Given the description of an element on the screen output the (x, y) to click on. 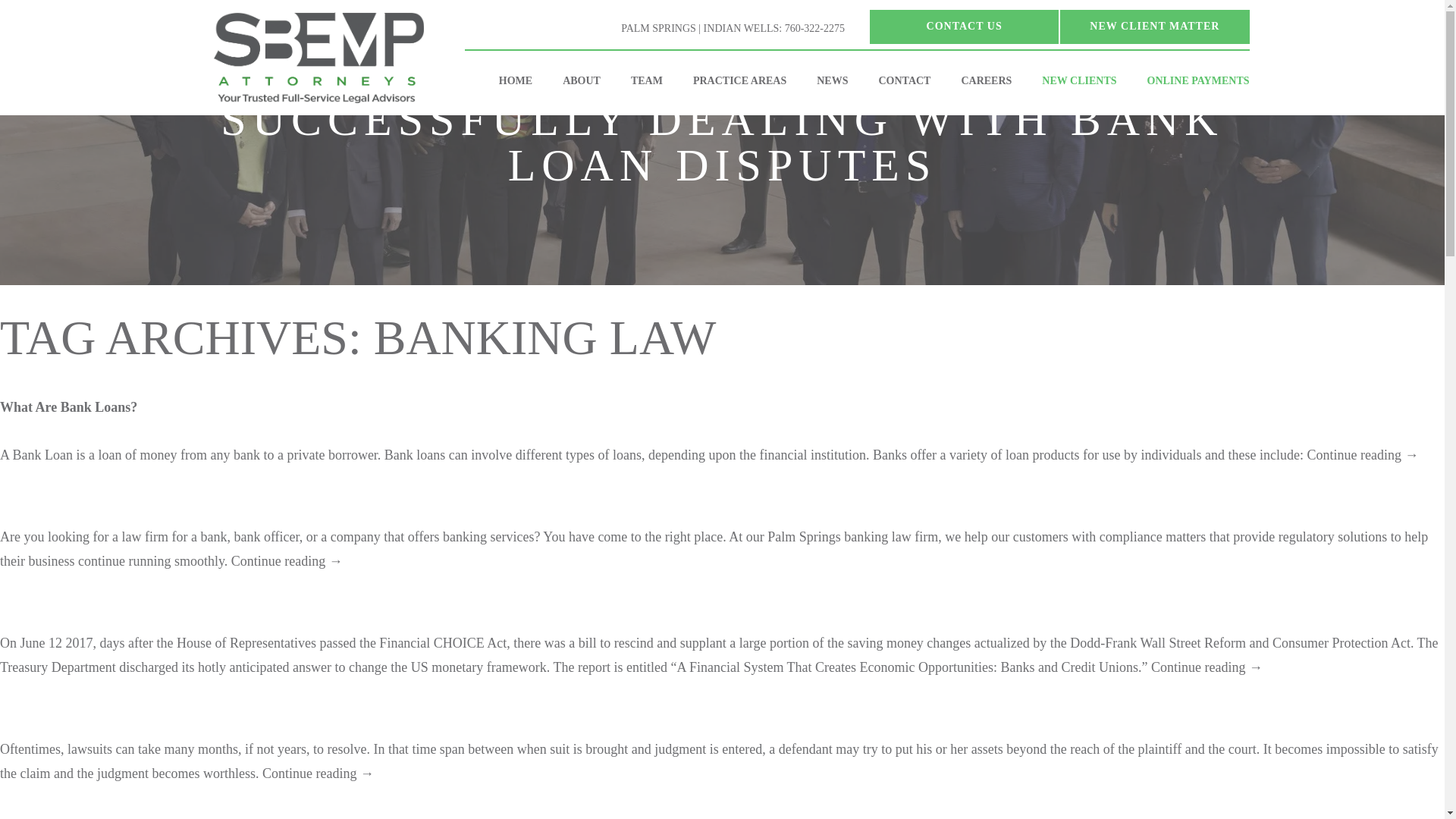
NEW CLIENT MATTER (1154, 26)
CONTACT US (963, 26)
ABOUT (581, 80)
CONTACT (903, 80)
PRACTICE AREAS (740, 80)
NEWS (832, 80)
HOME (515, 80)
TEAM (646, 80)
